Given the description of an element on the screen output the (x, y) to click on. 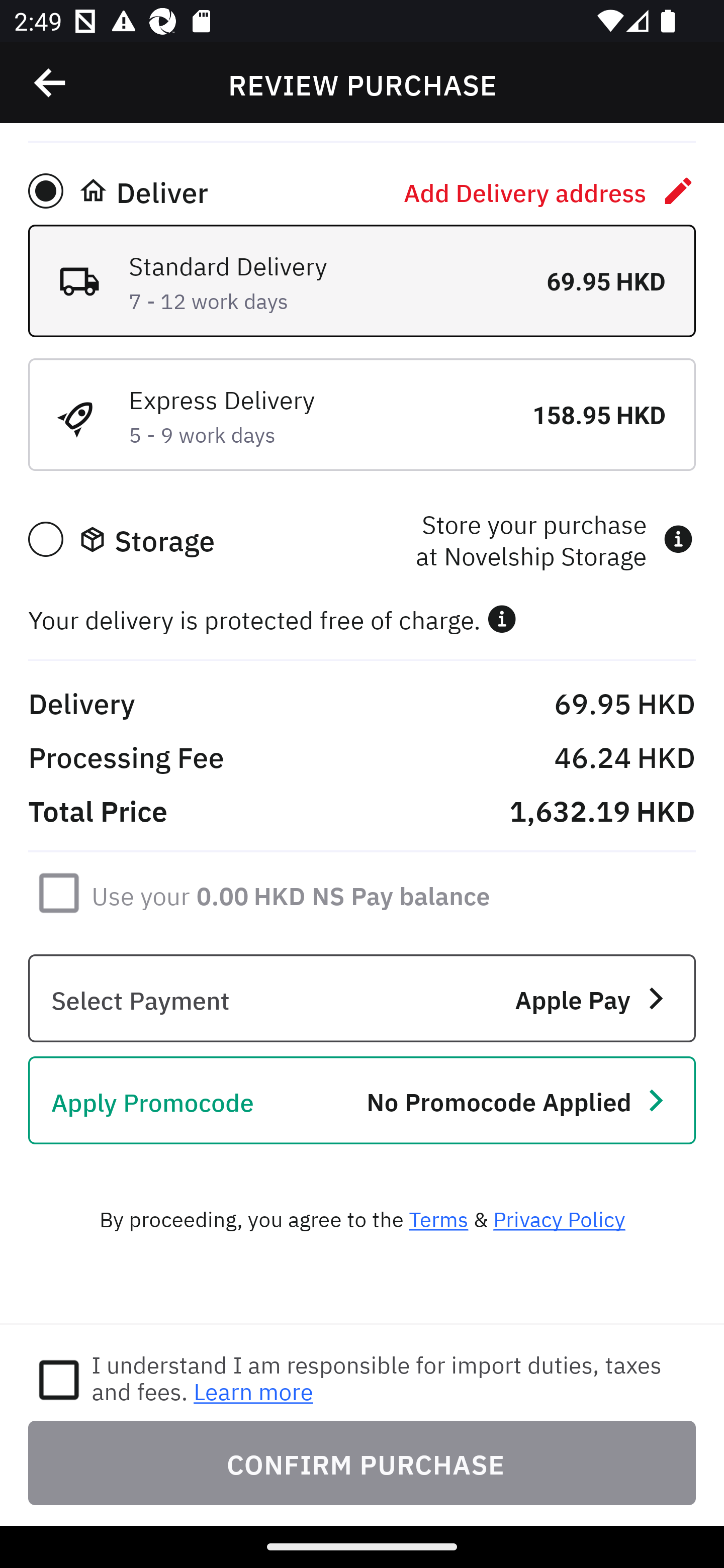
 (50, 83)
󰚡 Deliver Add Delivery address 󰏫 (361, 190)
Add Delivery address 󰏫 (549, 190)
󱊝 Standard Delivery 7 - 12 work days 69.95 HKD (361, 280)
󱎯 Express Delivery 5 - 9 work days 158.95 HKD (361, 414)
Store your purchase
at Novelship Storage  (554, 539)
 (501, 619)
Use your 0.00 HKD NS Pay balance (290, 892)
Select Payment Apple Pay  (361, 998)
Apply Promocode No Promocode Applied  (361, 1100)
 CONFIRM PURCHASE (361, 1462)
